Given the description of an element on the screen output the (x, y) to click on. 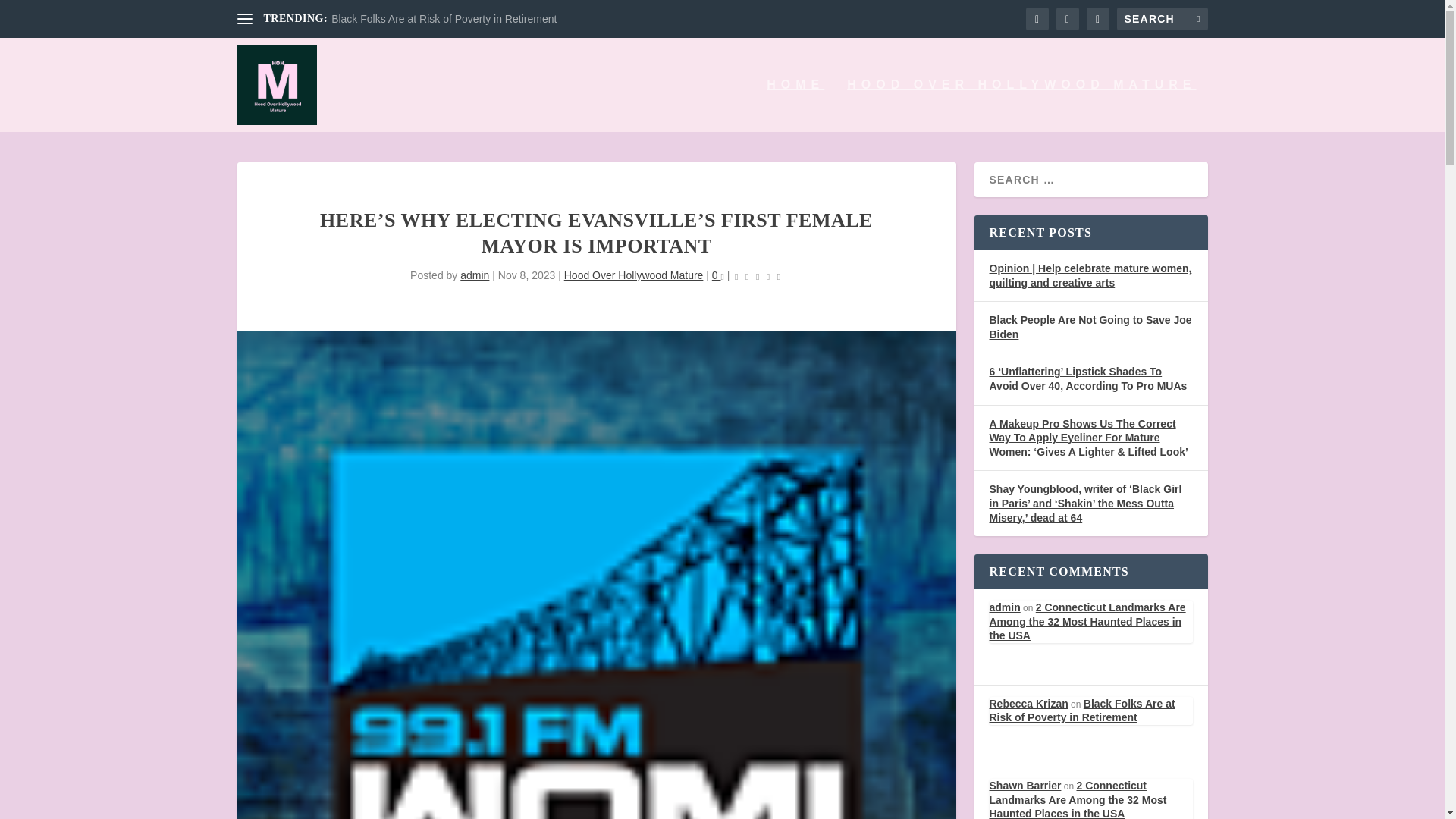
Rating: 0.00 (757, 275)
HOOD OVER HOLLYWOOD MATURE (1021, 104)
HOME (795, 104)
admin (474, 275)
Posts by admin (474, 275)
0 (717, 275)
Hood Over Hollywood Mature (633, 275)
Search for: (1161, 18)
Black Folks Are at Risk of Poverty in Retirement (443, 19)
